Given the description of an element on the screen output the (x, y) to click on. 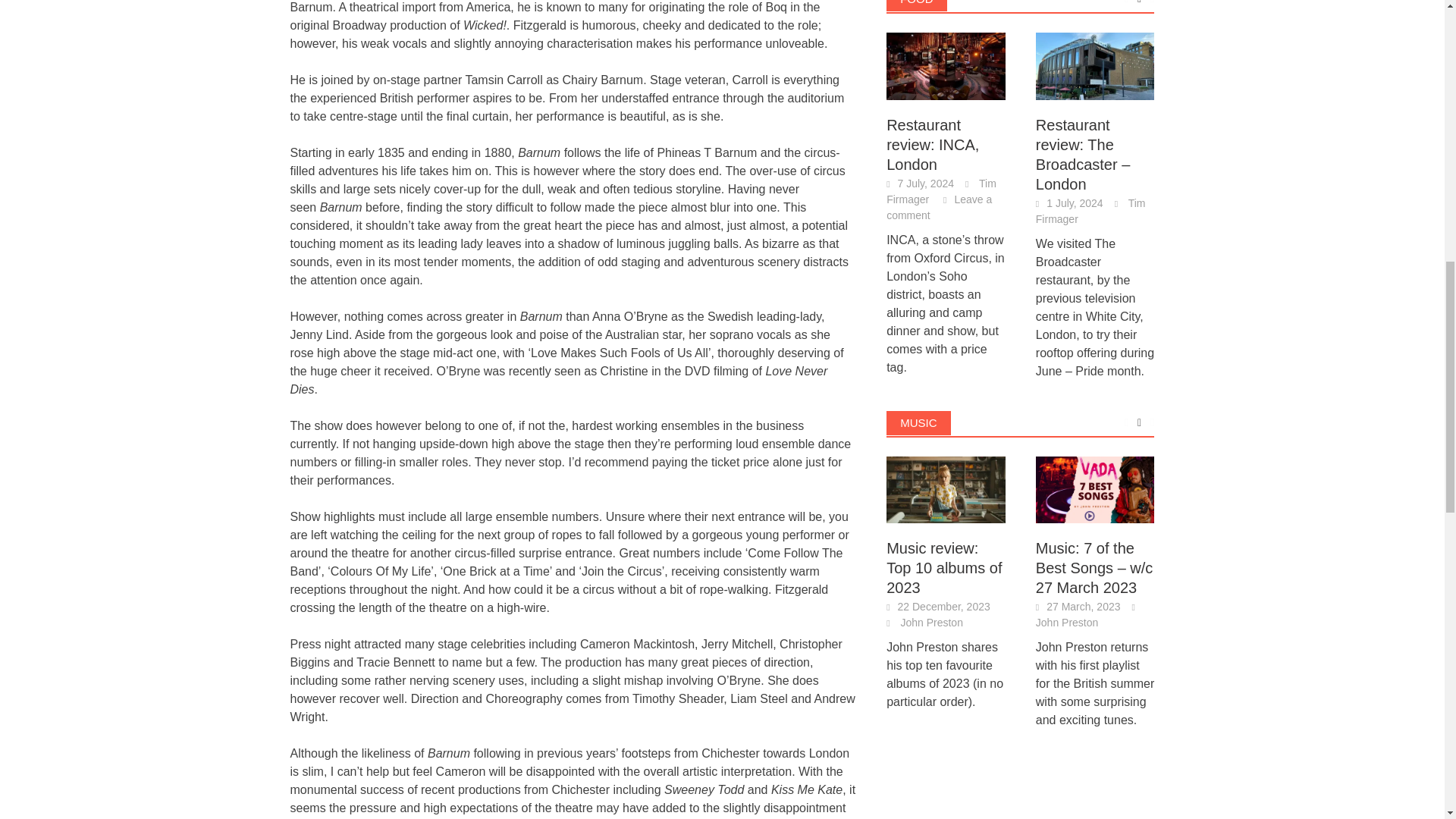
Restaurant review: INCA, London (946, 64)
Restaurant review: INCA, London (946, 65)
Music review: Top 10 albums of 2023 (946, 490)
Music review: Top 10 albums of 2023 (946, 488)
